Given the description of an element on the screen output the (x, y) to click on. 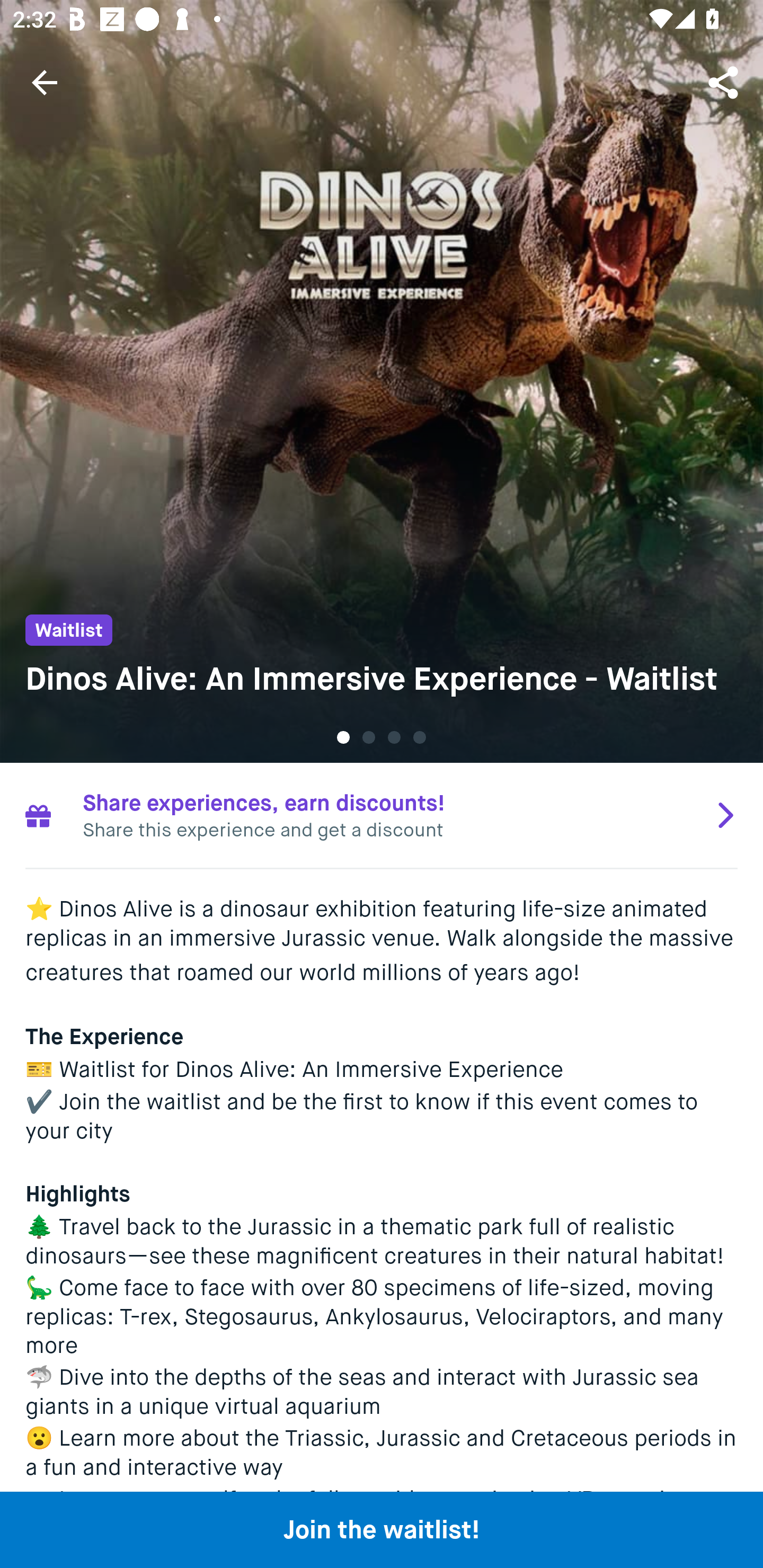
Navigate up (44, 82)
Share (724, 81)
Join the waitlist! (381, 1529)
